Given the description of an element on the screen output the (x, y) to click on. 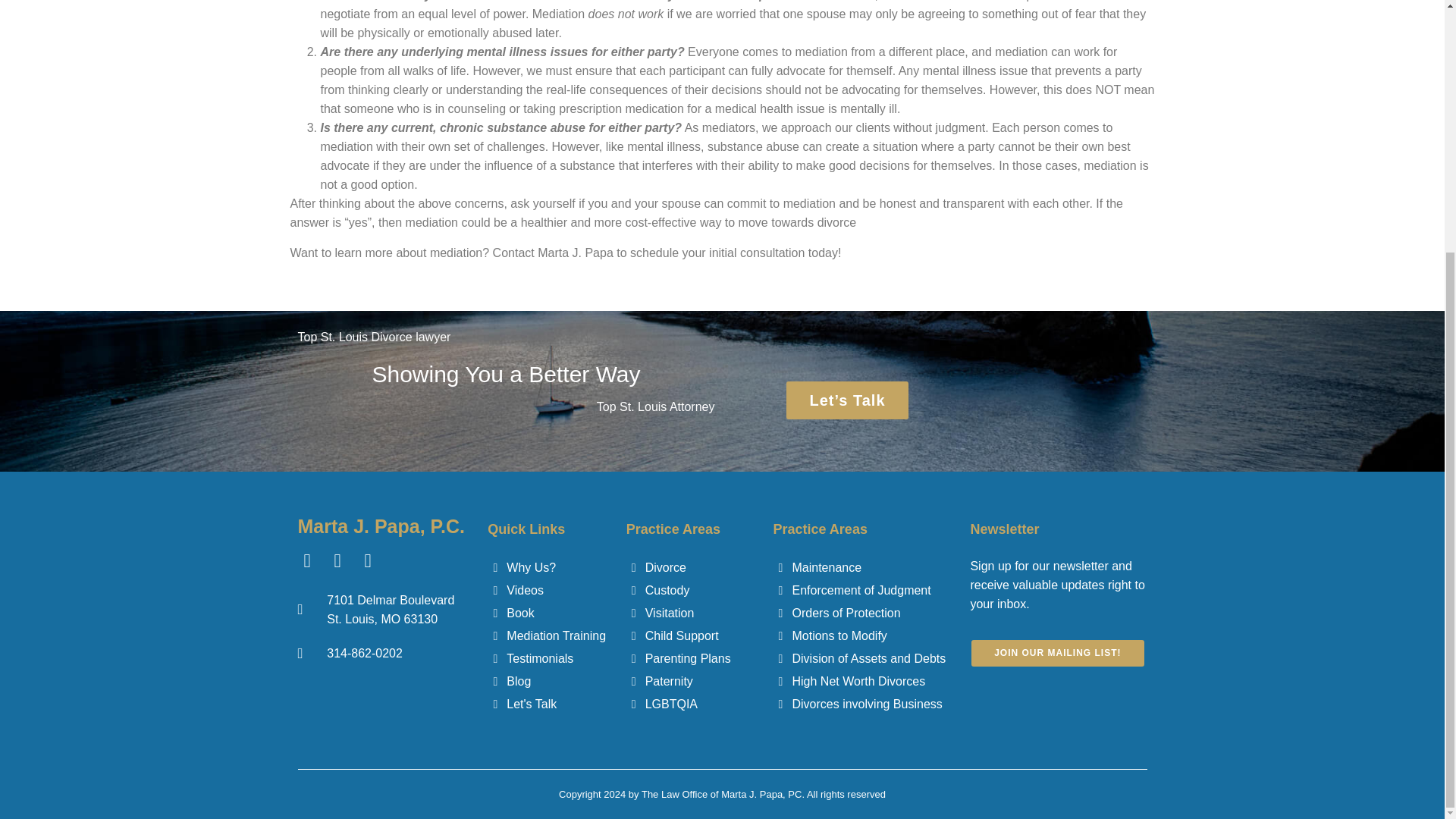
Marta J. Papa, P.C. (380, 526)
